Given the description of an element on the screen output the (x, y) to click on. 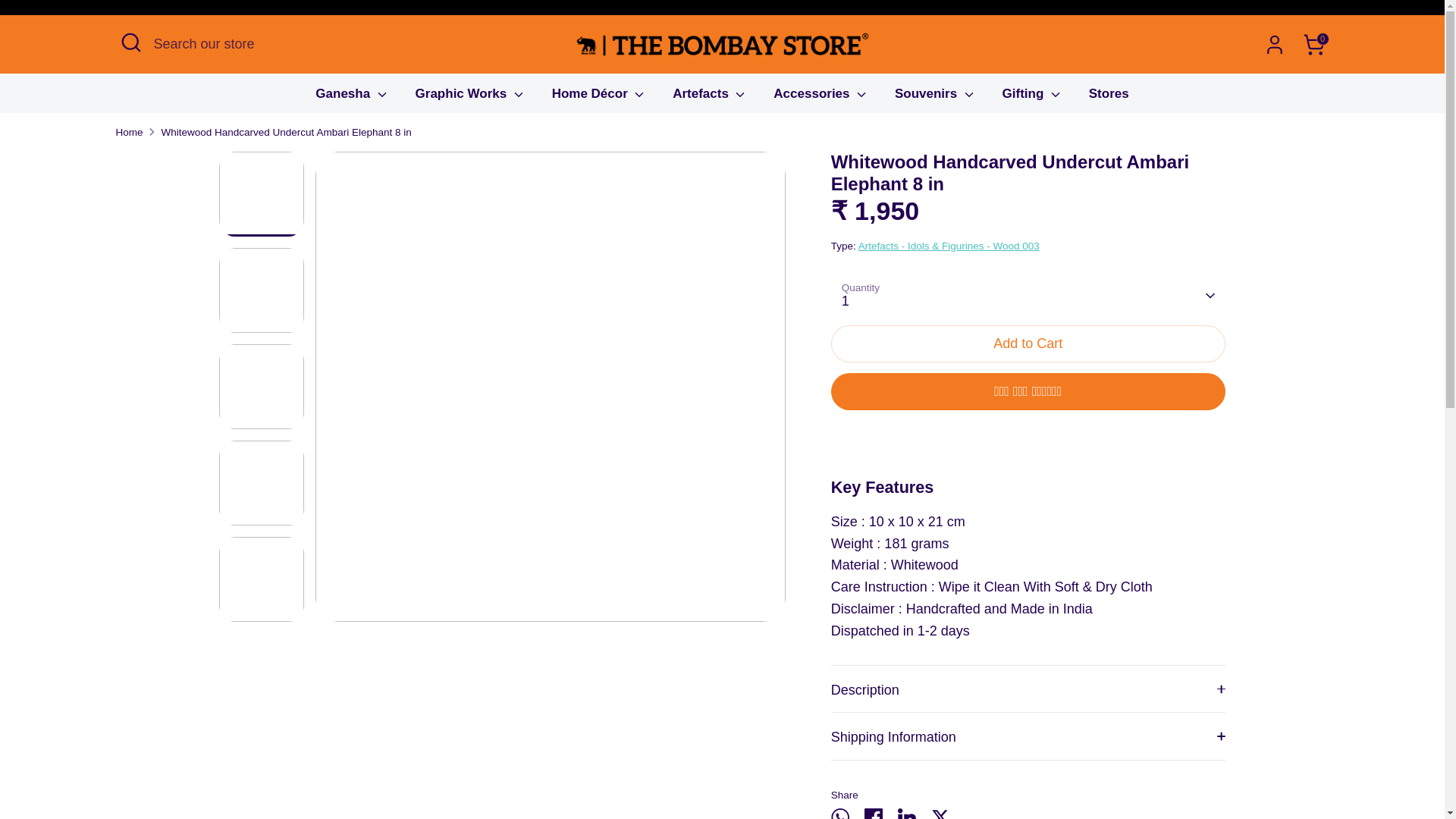
0 (1312, 44)
